Given the description of an element on the screen output the (x, y) to click on. 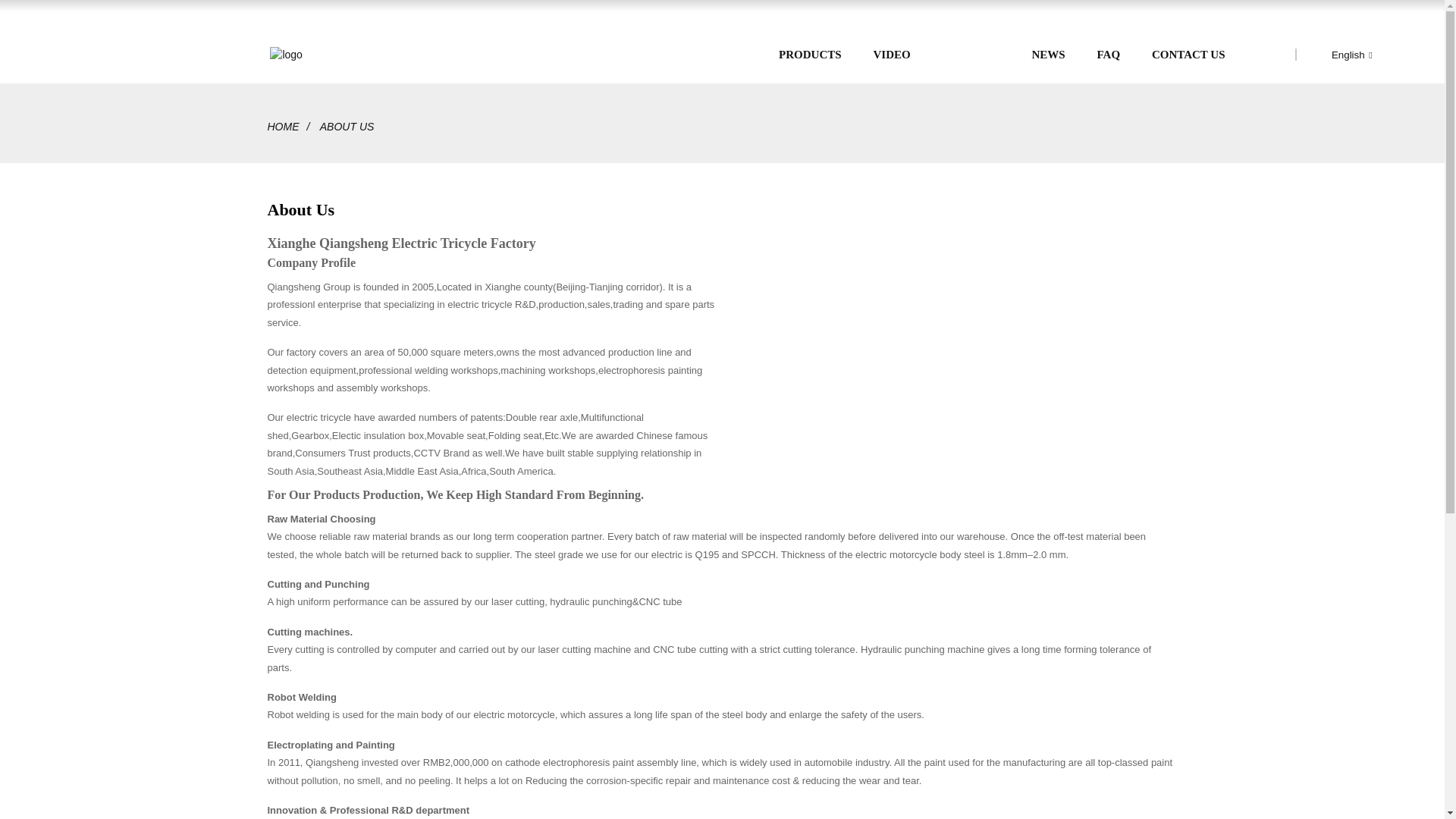
HOME (282, 126)
FAQ (1109, 54)
NEWS (1047, 54)
VIDEO (891, 54)
PRODUCTS (809, 54)
CONTACT US (1188, 54)
English (1339, 53)
ABOUT US (347, 126)
ABOUT US (971, 54)
